Given the description of an element on the screen output the (x, y) to click on. 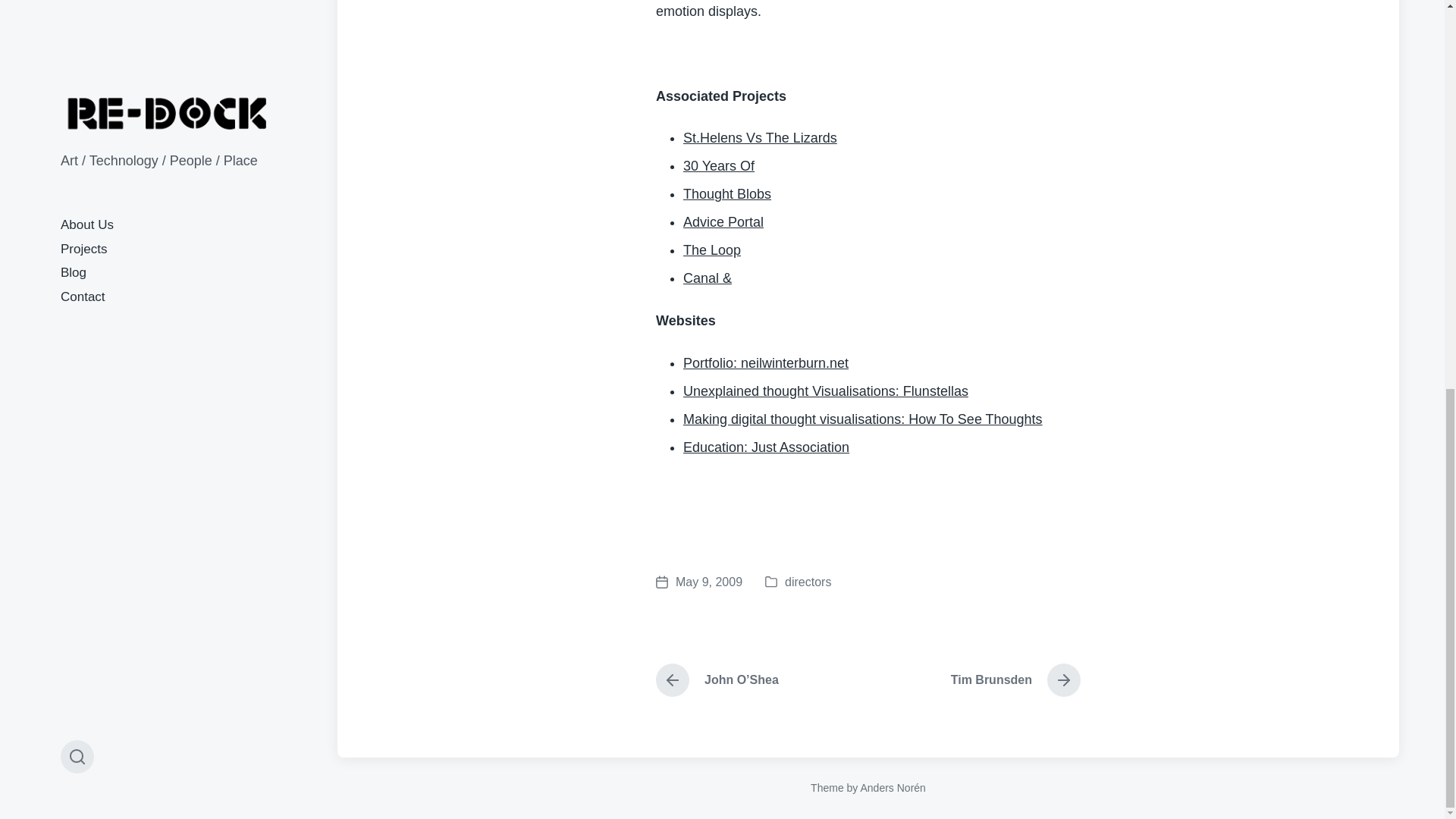
Neil Winterburn (699, 582)
Advice Portal (722, 222)
Toggle the search field (77, 19)
Thought Blobs (726, 193)
The Loop (711, 249)
St. Helens Vs The Lizards (759, 137)
St.Helens Vs The Lizards (1009, 679)
Advice Portal (759, 137)
Thought Blobs (722, 222)
